Given the description of an element on the screen output the (x, y) to click on. 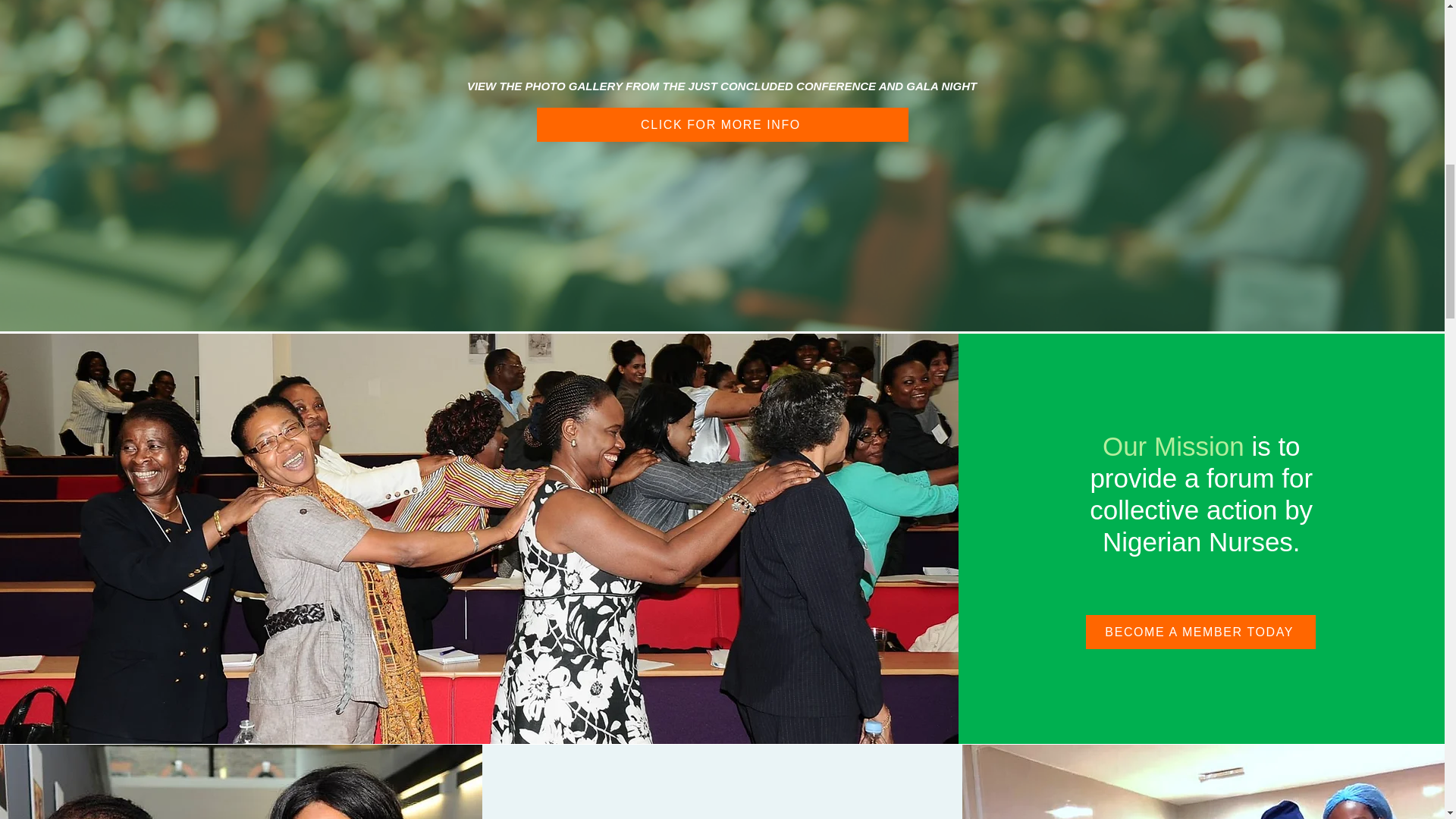
CLICK FOR MORE INFO (722, 124)
BECOME A MEMBER TODAY (1201, 632)
